Given the description of an element on the screen output the (x, y) to click on. 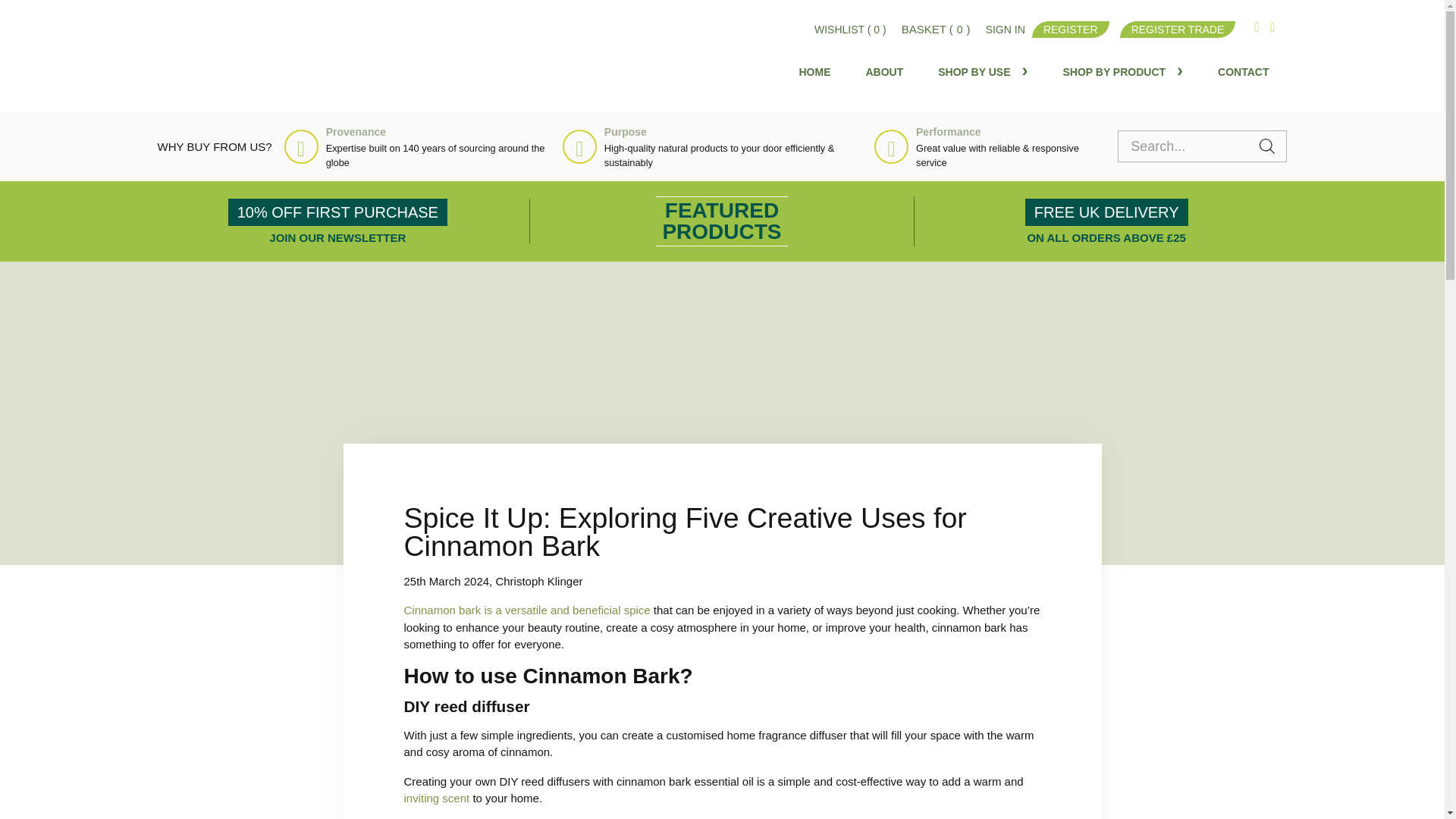
SHOP BY PRODUCT (1123, 71)
CONTACT (1243, 71)
HOME (815, 71)
SHOP BY USE (982, 71)
REGISTER TRADE (1177, 29)
REGISTER (1070, 29)
ABOUT (885, 71)
Cinnamon bark is a versatile and beneficial spice (526, 609)
SIGN IN (1005, 29)
